Given the description of an element on the screen output the (x, y) to click on. 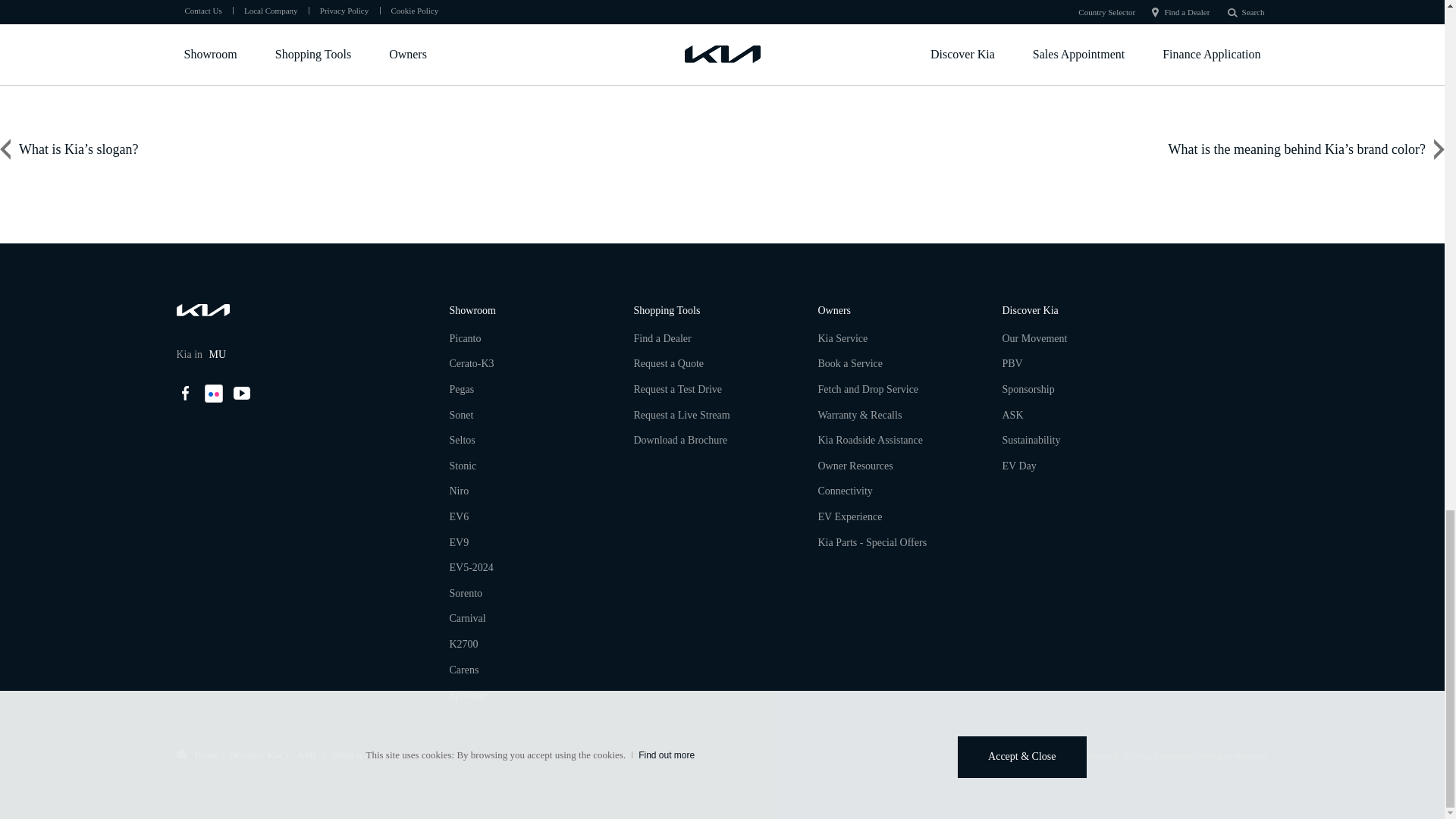
facebook (184, 393)
youtube (241, 393)
flickr (213, 393)
